Given the description of an element on the screen output the (x, y) to click on. 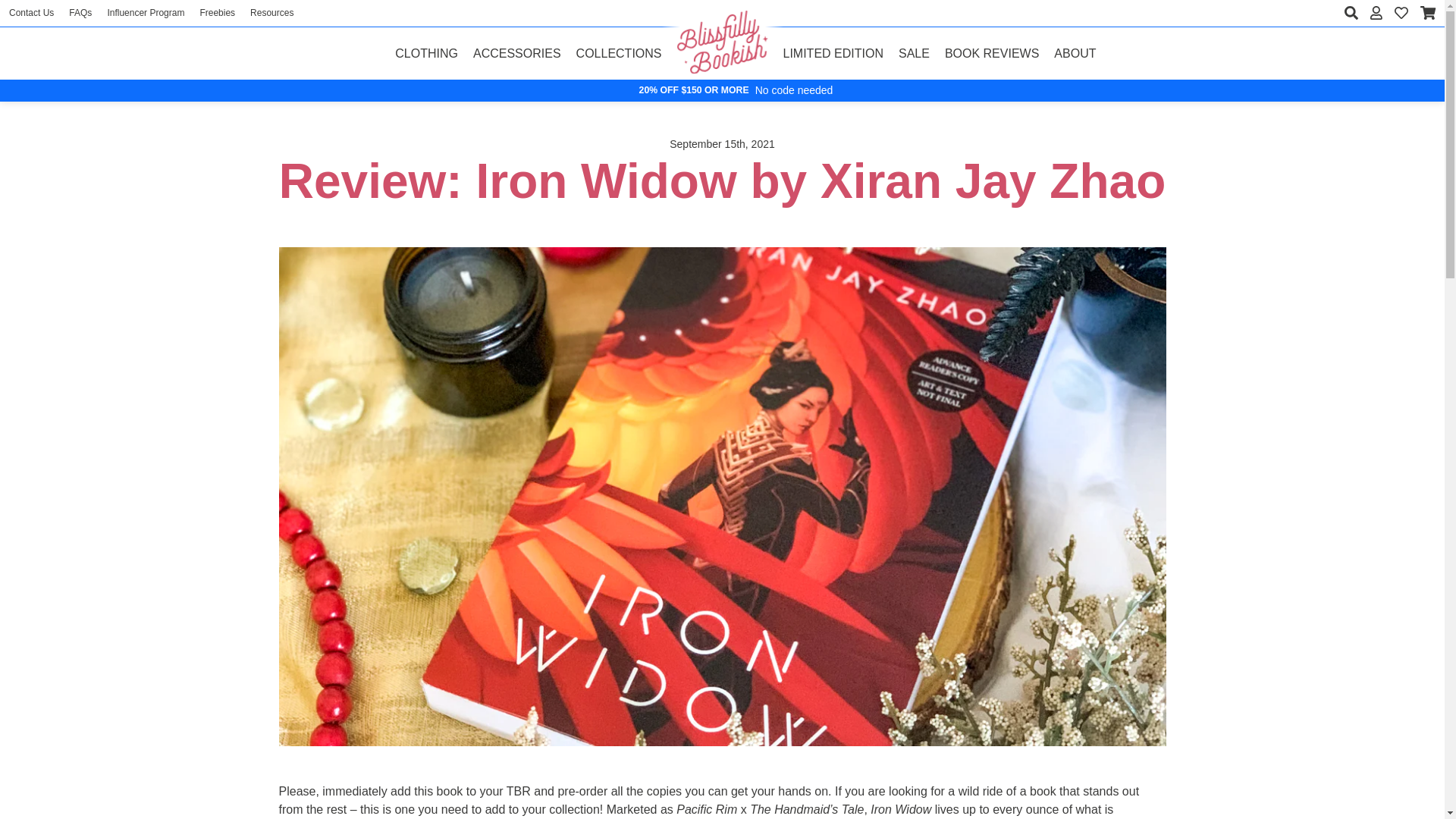
Contact Us (30, 12)
Wishlists (1400, 12)
Cart (1428, 12)
Search (1350, 12)
Search (1350, 12)
COLLECTIONS (619, 52)
Resources (272, 12)
Influencer Program (145, 12)
ACCESSORIES (516, 52)
Freebies (216, 12)
CLOTHING (426, 52)
FAQs (79, 12)
